Given the description of an element on the screen output the (x, y) to click on. 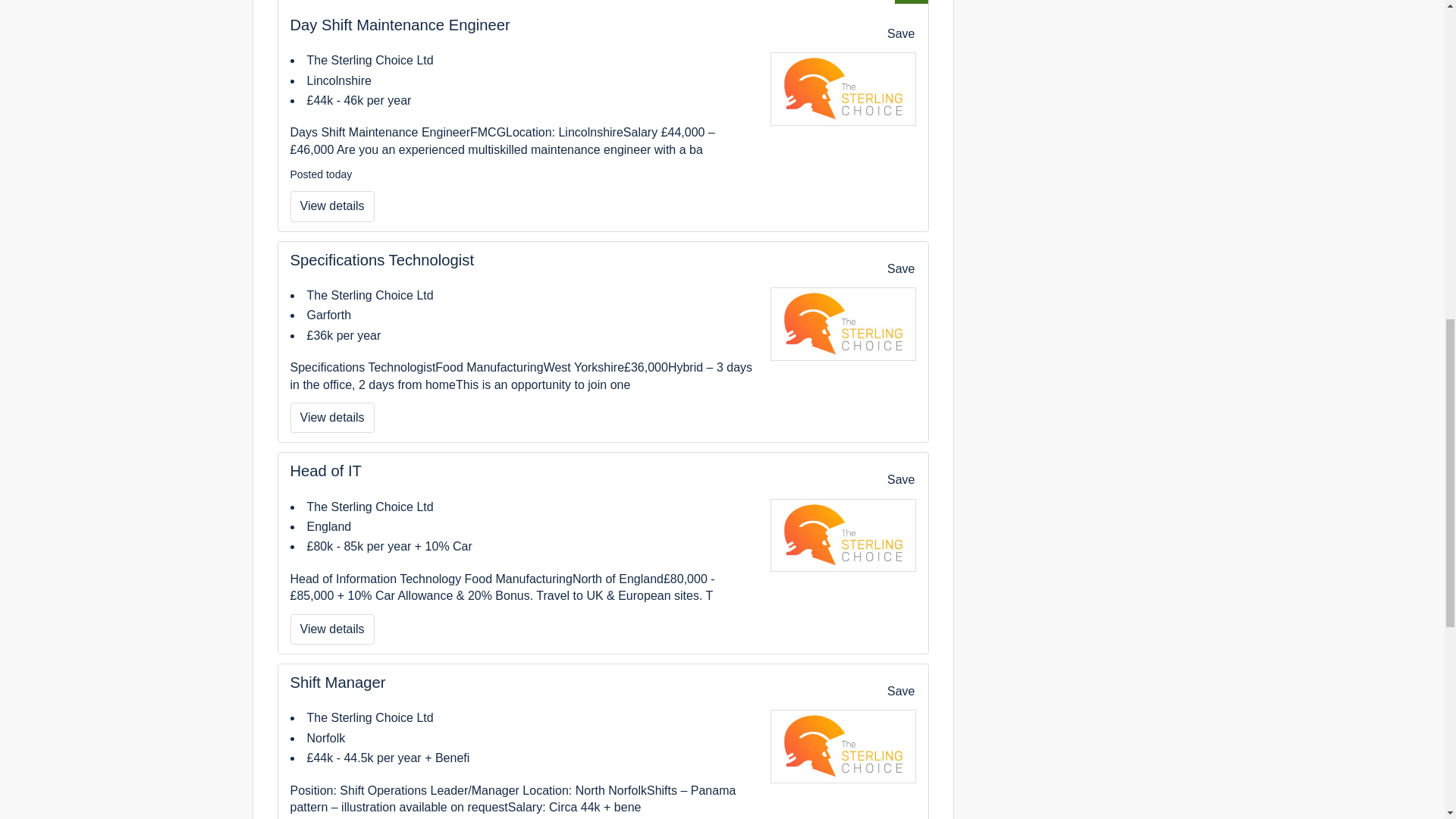
Head of IT (325, 470)
Shift Manager (337, 682)
Click to add the job to your shortlist (900, 33)
Click to add the job to your shortlist (891, 479)
Click to add the job to your shortlist (900, 479)
Click to add the job to your shortlist (891, 691)
